Given the description of an element on the screen output the (x, y) to click on. 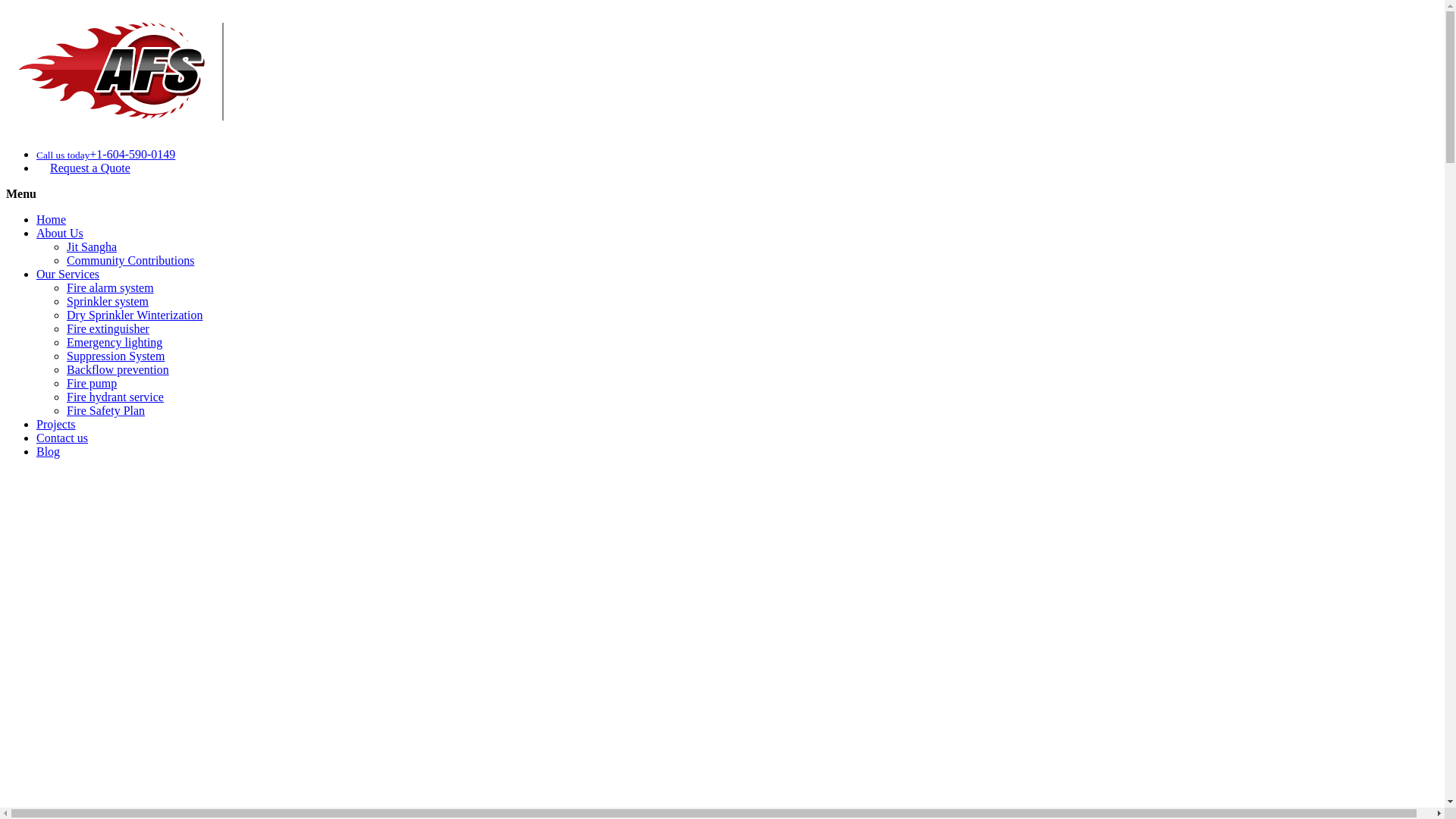
Backflow prevention Element type: text (117, 369)
Fire pump Element type: text (91, 382)
Our Services Element type: text (67, 273)
Home Element type: text (50, 219)
Suppression System Element type: text (115, 355)
Sprinkler system Element type: text (107, 300)
Fire extinguisher Element type: text (107, 328)
Jit Sangha Element type: text (91, 246)
Projects Element type: text (55, 423)
Request a Quote Element type: text (83, 167)
Emergency lighting Element type: text (114, 341)
Fire Safety Plan Element type: text (105, 410)
Fire hydrant service Element type: text (114, 396)
Dry Sprinkler Winterization Element type: text (134, 314)
Call us today+1-604-590-0149 Element type: text (105, 153)
Community Contributions Element type: text (130, 260)
Fire alarm system Element type: text (109, 287)
About Us Element type: text (59, 232)
Blog Element type: text (47, 451)
Contact us Element type: text (61, 437)
